Given the description of an element on the screen output the (x, y) to click on. 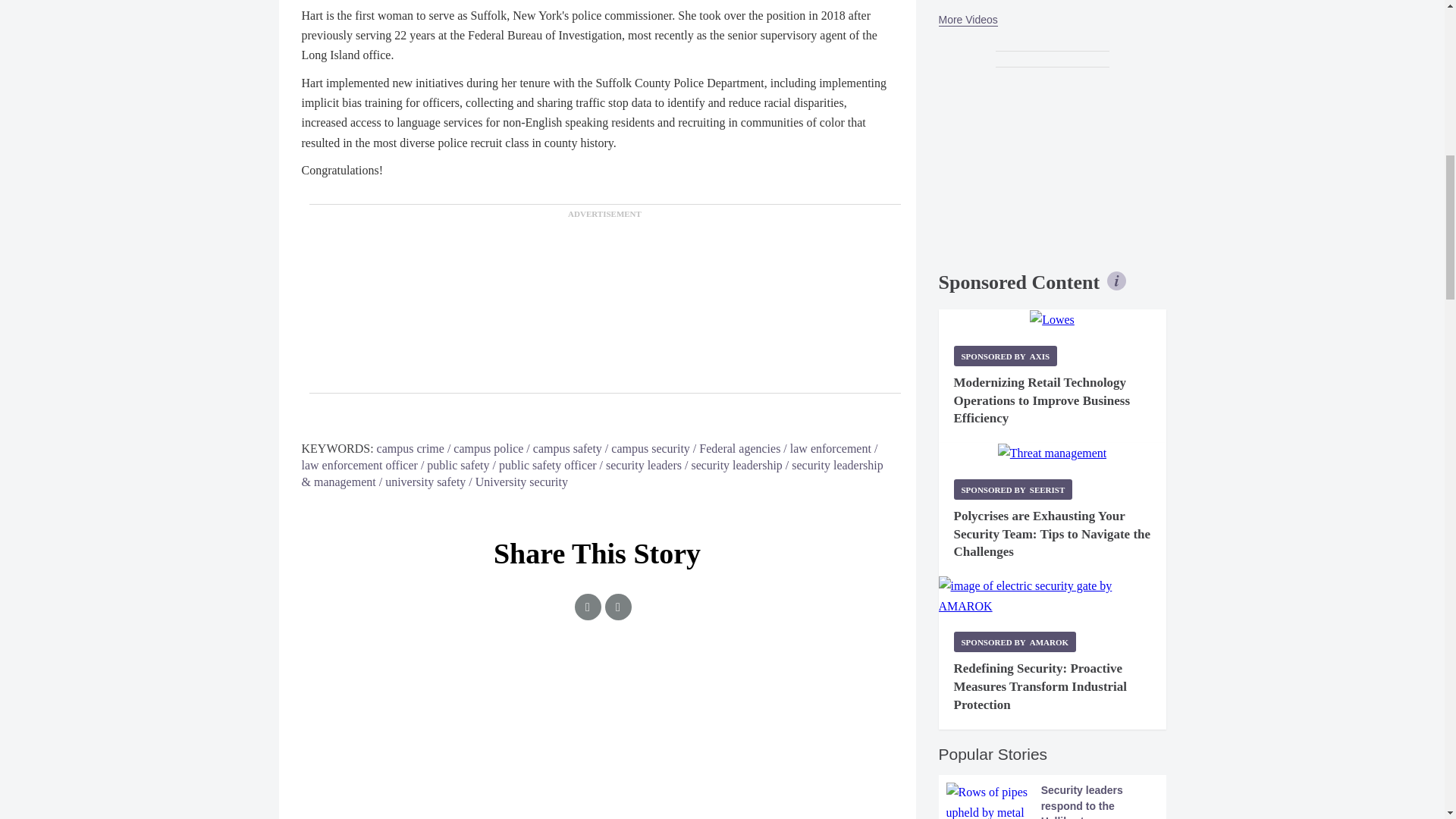
Sponsored by AMAROK (1015, 641)
AMAROK Security Gate (1052, 596)
Sponsored by Seerist (1013, 489)
Lowes (1051, 320)
Sponsored by Axis (1005, 355)
Threat management (1051, 453)
Security leaders respond to the Halliburton cyberattack (1052, 800)
